Given the description of an element on the screen output the (x, y) to click on. 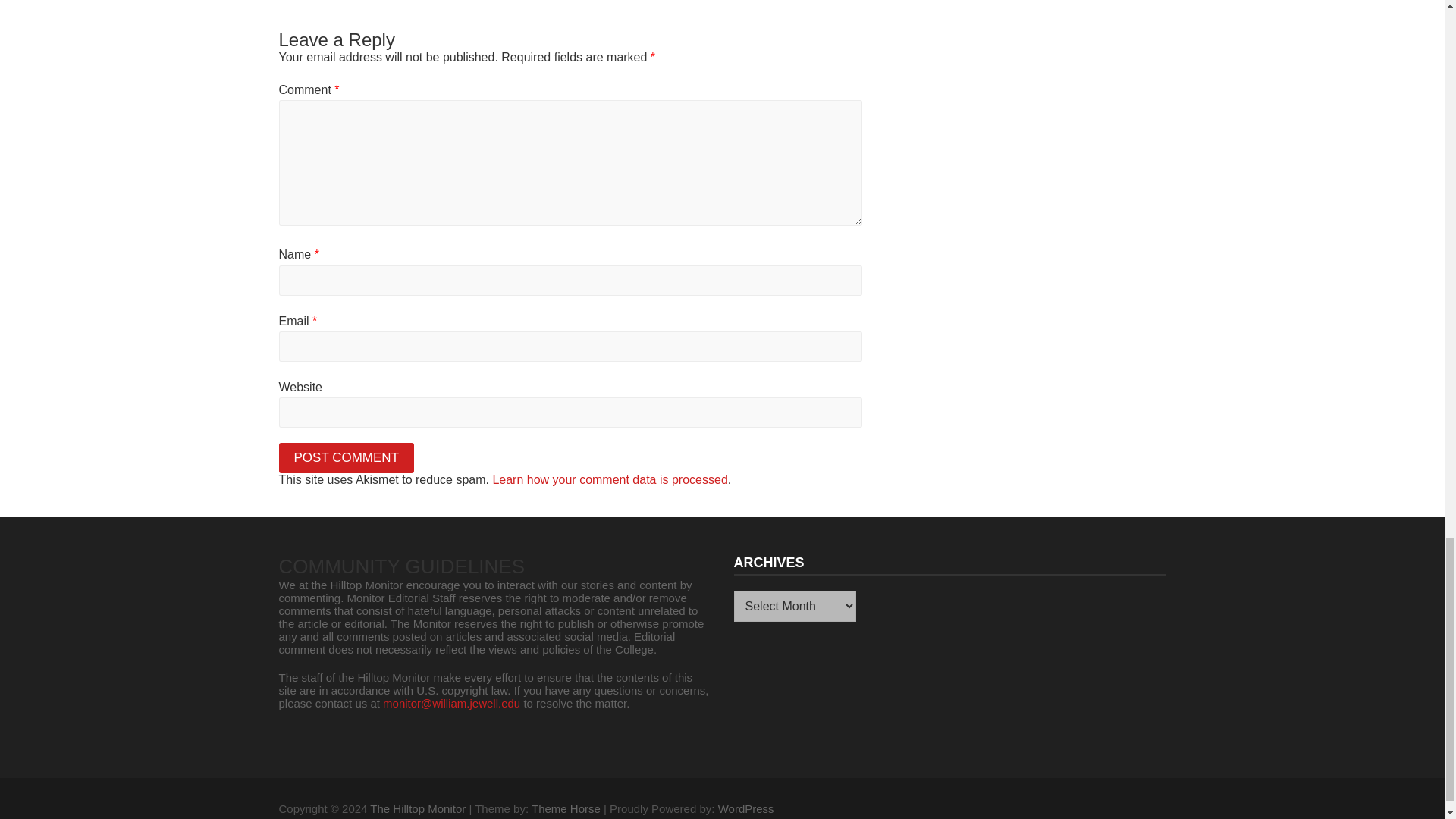
Theme Horse (565, 808)
Post Comment (346, 458)
The Hilltop Monitor (417, 808)
WordPress (745, 808)
